Given the description of an element on the screen output the (x, y) to click on. 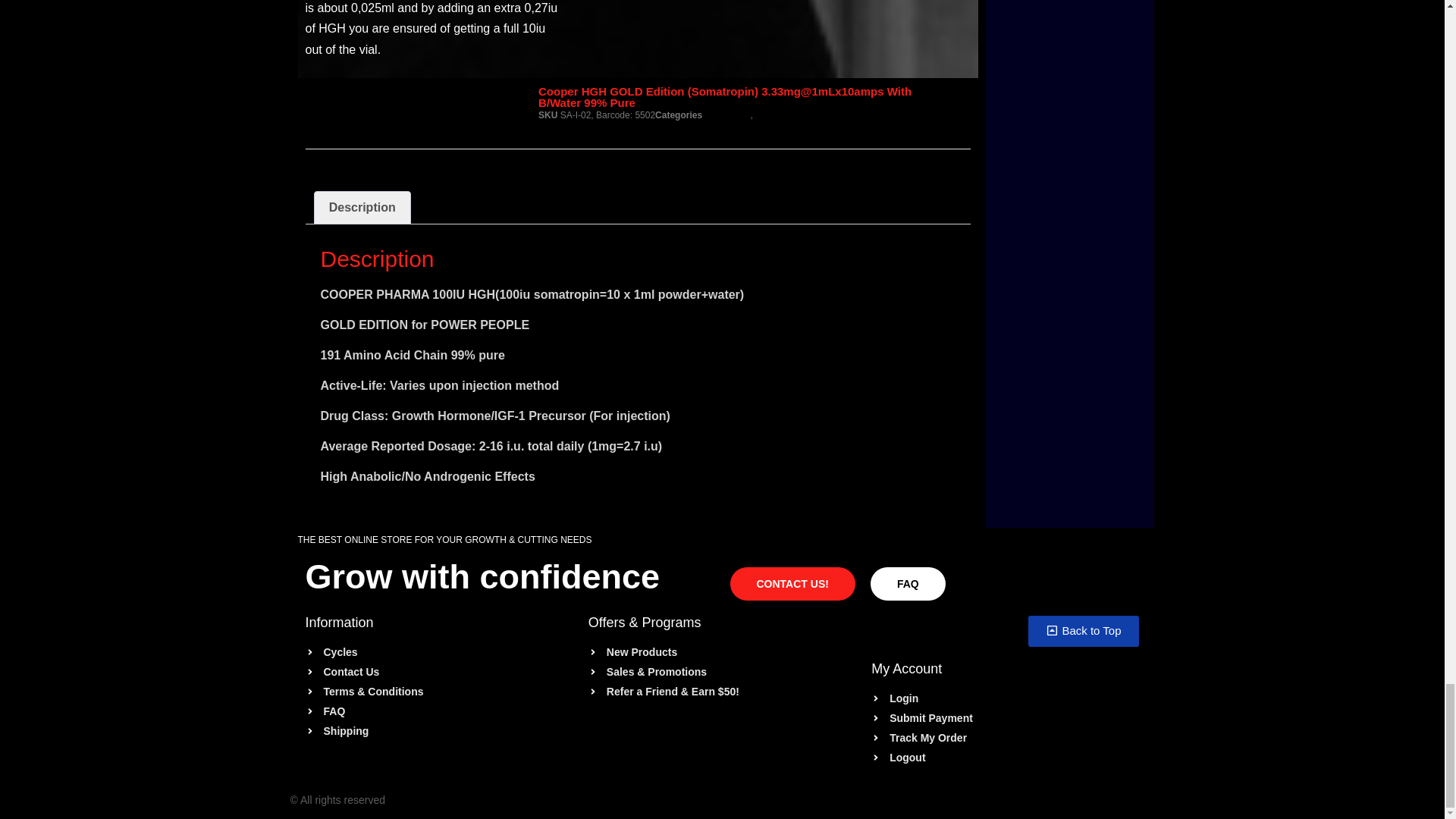
Cycles (438, 652)
Shipping (438, 731)
FAQ (907, 583)
Logout (1004, 757)
FAQ (438, 711)
Injectable (774, 114)
Login (1004, 698)
Contact Us (438, 672)
Submit Payment (1004, 718)
Back to Top (1082, 631)
